Given the description of an element on the screen output the (x, y) to click on. 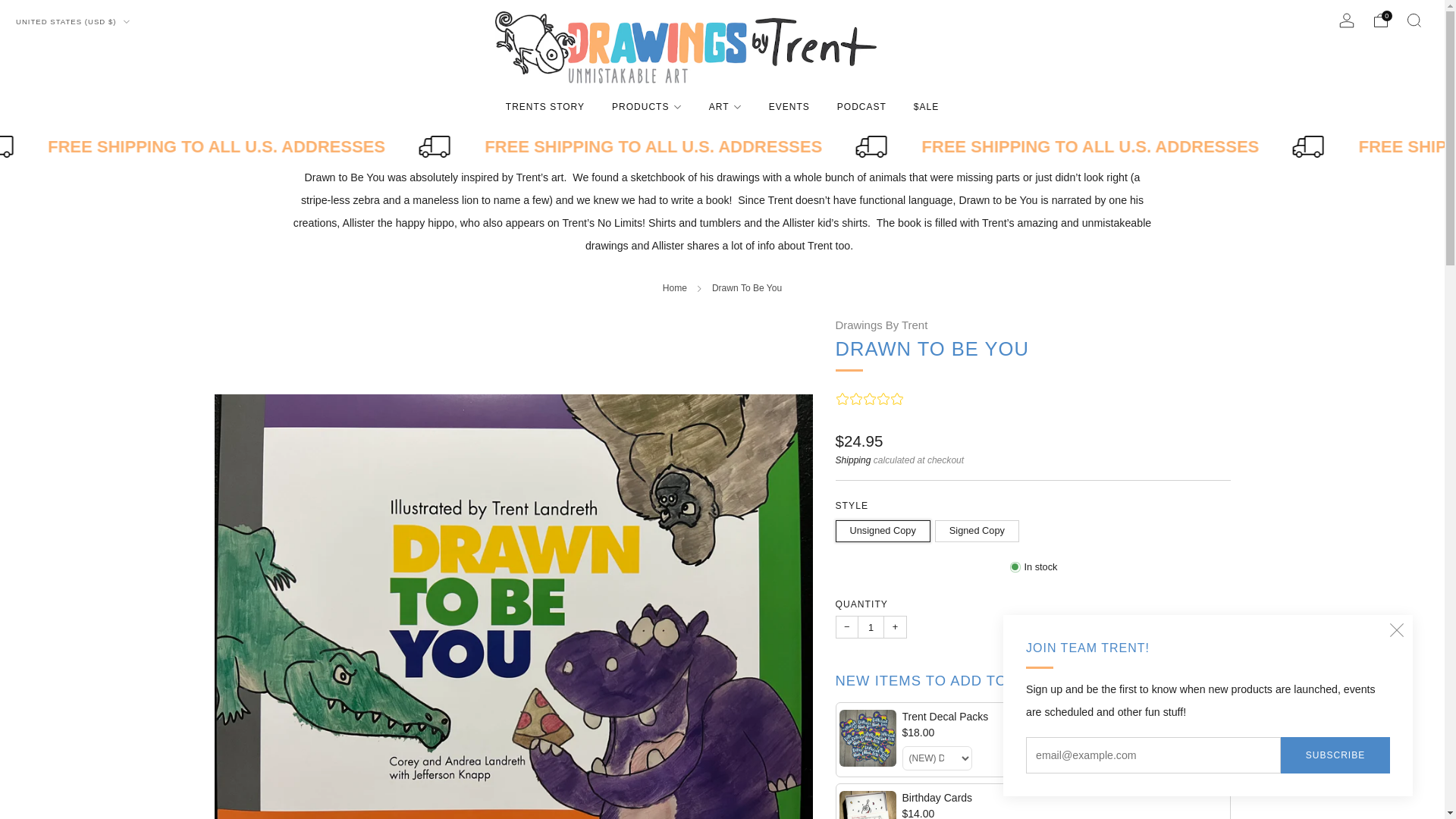
ART (725, 106)
TRENTS STORY (545, 106)
FREE SHIPPING TO ALL U.S. ADDRESSES (279, 147)
PRODUCTS (646, 106)
Unsigned Copy (884, 527)
Drawings By Trent (881, 325)
FREE SHIPPING TO ALL U.S. ADDRESSES (1147, 147)
PODCAST (861, 106)
1 (871, 627)
FREE SHIPPING TO ALL U.S. ADDRESSES (713, 147)
Home (674, 287)
Signed Copy (978, 527)
EVENTS (788, 106)
